Given the description of an element on the screen output the (x, y) to click on. 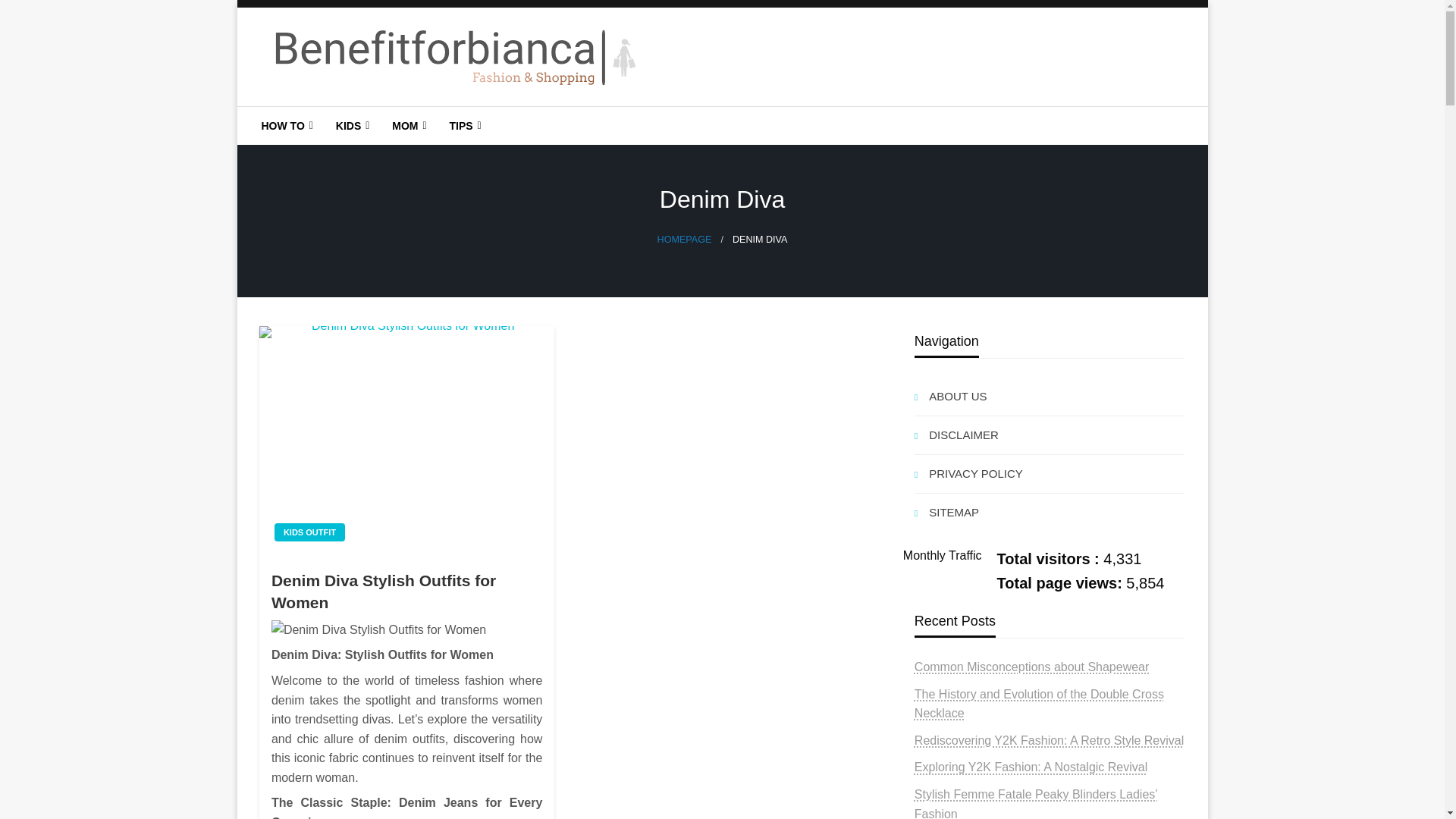
Denim Diva Stylish Outfits for Women (405, 591)
The History and Evolution of the Double Cross Necklace (1038, 703)
TIPS (462, 125)
Denim Diva Stylish Outfits for Women (405, 629)
BenefitforBianca (374, 118)
Denim Diva Stylish Outfits for Women (406, 439)
HOW TO (285, 125)
ABOUT US (1049, 395)
Common Misconceptions about Shapewear (1032, 666)
